Given the description of an element on the screen output the (x, y) to click on. 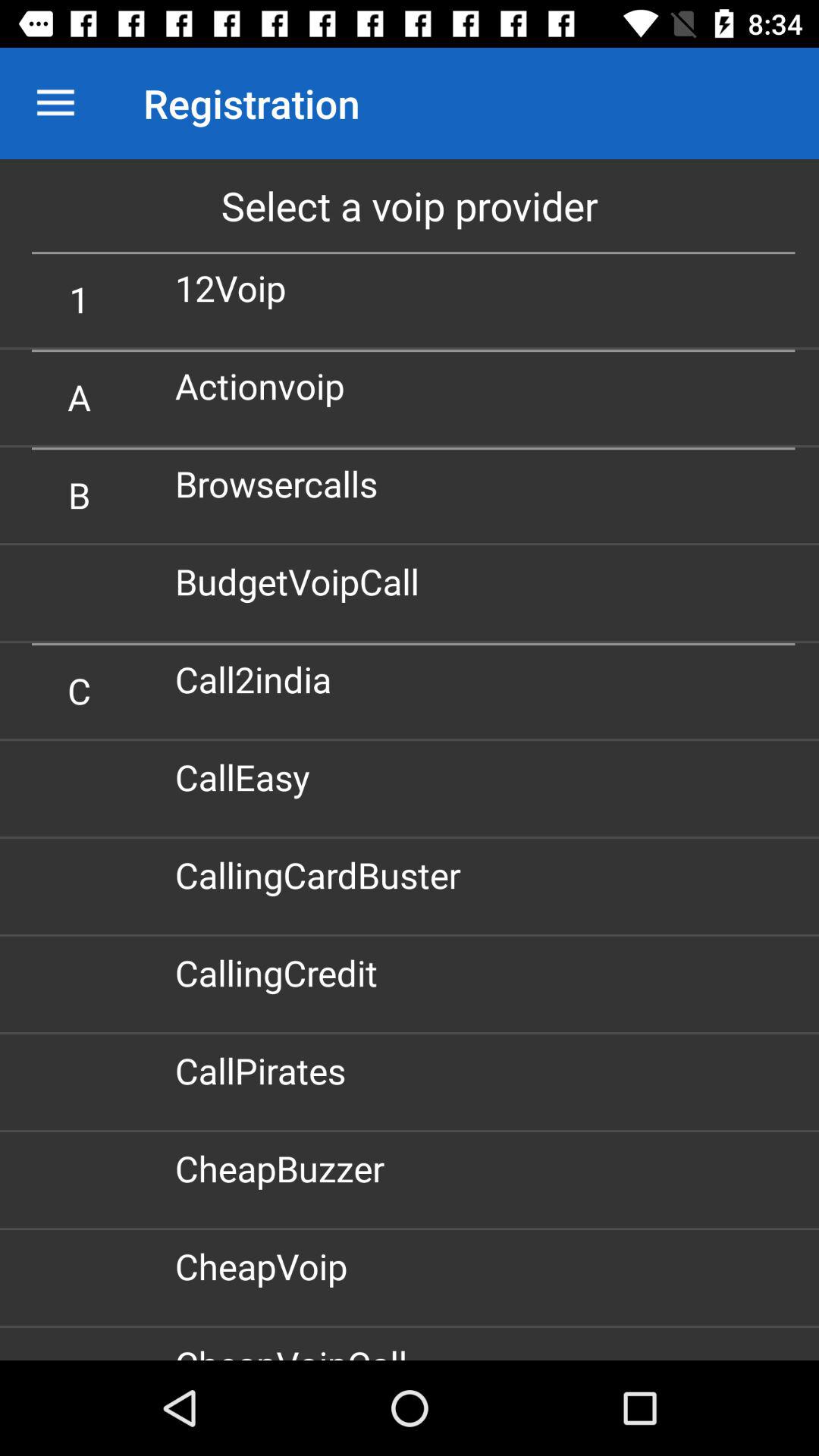
open icon next to the call2india item (79, 690)
